Given the description of an element on the screen output the (x, y) to click on. 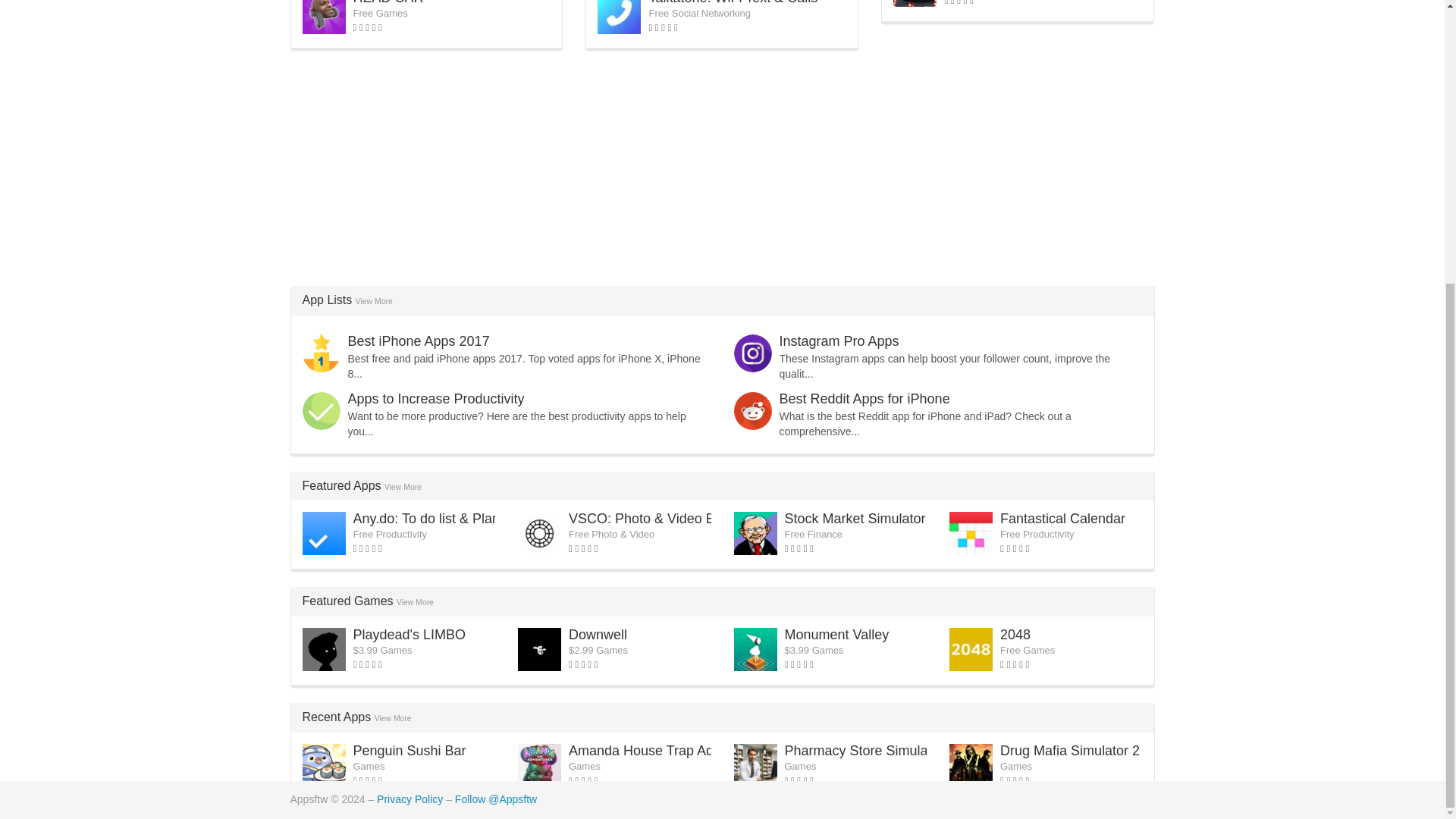
View HEAD CAR (388, 2)
HEAD CAR (388, 2)
Instagram Pro Apps (838, 340)
Best iPhone Apps 2017 (418, 340)
Apps to Increase Productivity (435, 398)
